Given the description of an element on the screen output the (x, y) to click on. 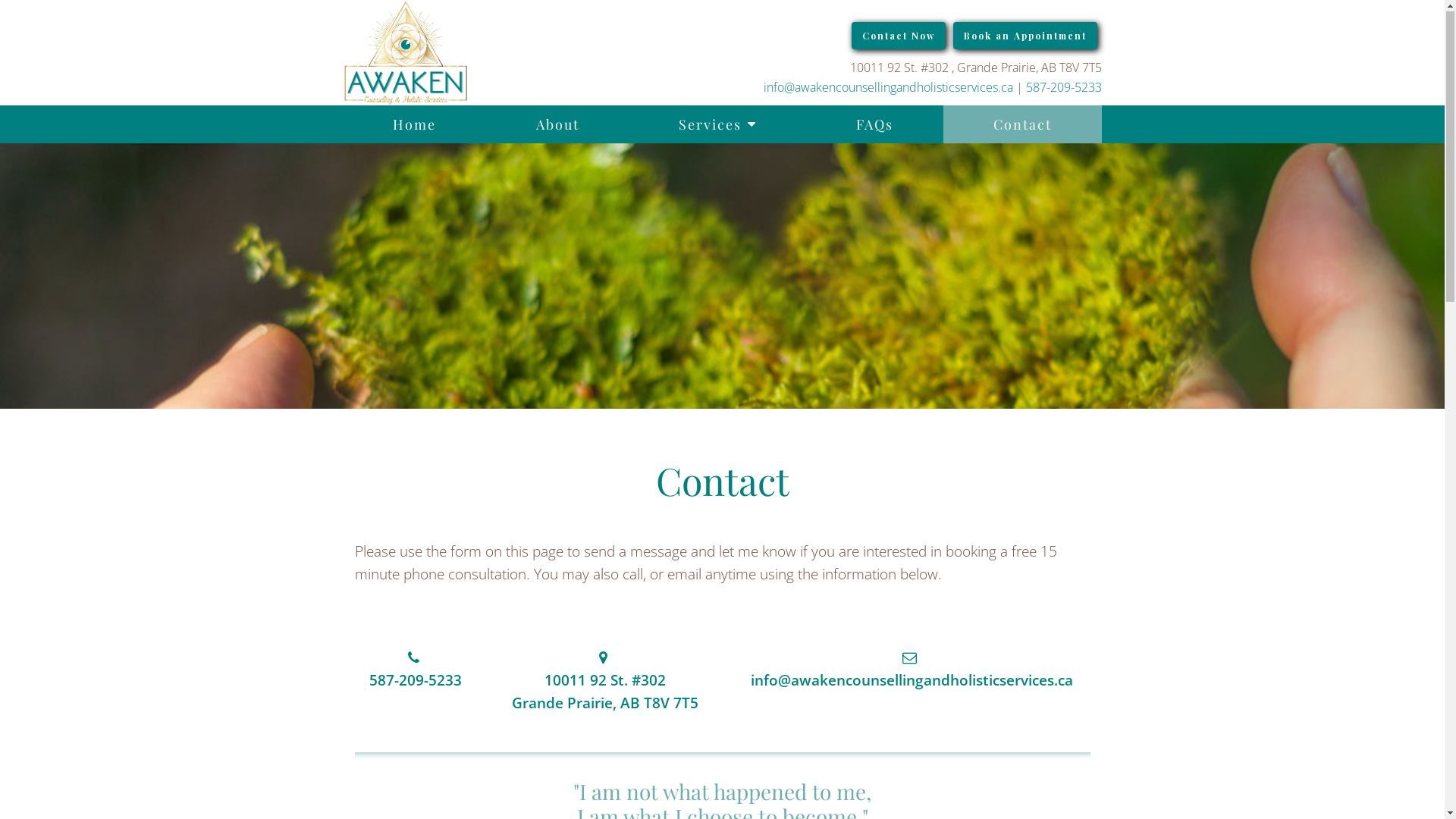
info@awakencounsellingandholisticservices.ca Element type: text (911, 680)
Book an Appointment Element type: text (1024, 36)
Contact Element type: text (1022, 125)
587-209-5233 Element type: text (1063, 87)
About Element type: text (557, 125)
info@awakencounsellingandholisticservices.ca Element type: text (887, 87)
FAQs Element type: text (874, 125)
Contact Now Element type: text (897, 36)
Services Element type: text (717, 125)
Home Element type: text (413, 125)
587-209-5233 Element type: text (415, 680)
